Given the description of an element on the screen output the (x, y) to click on. 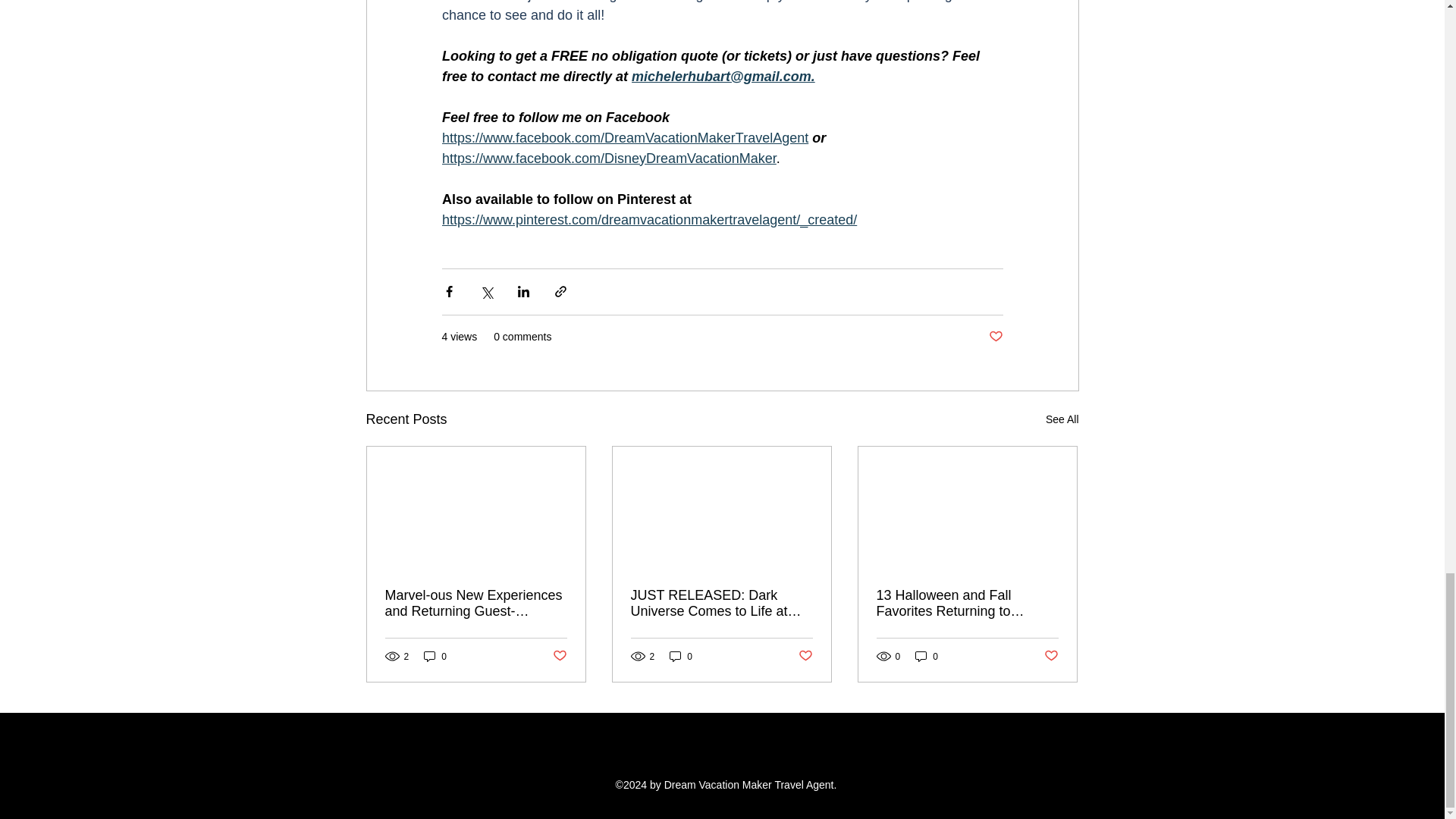
0 (681, 656)
0 (435, 656)
Post not marked as liked (804, 656)
Post not marked as liked (995, 336)
See All (1061, 419)
Post not marked as liked (558, 656)
Post not marked as liked (1050, 656)
0 (926, 656)
